Given the description of an element on the screen output the (x, y) to click on. 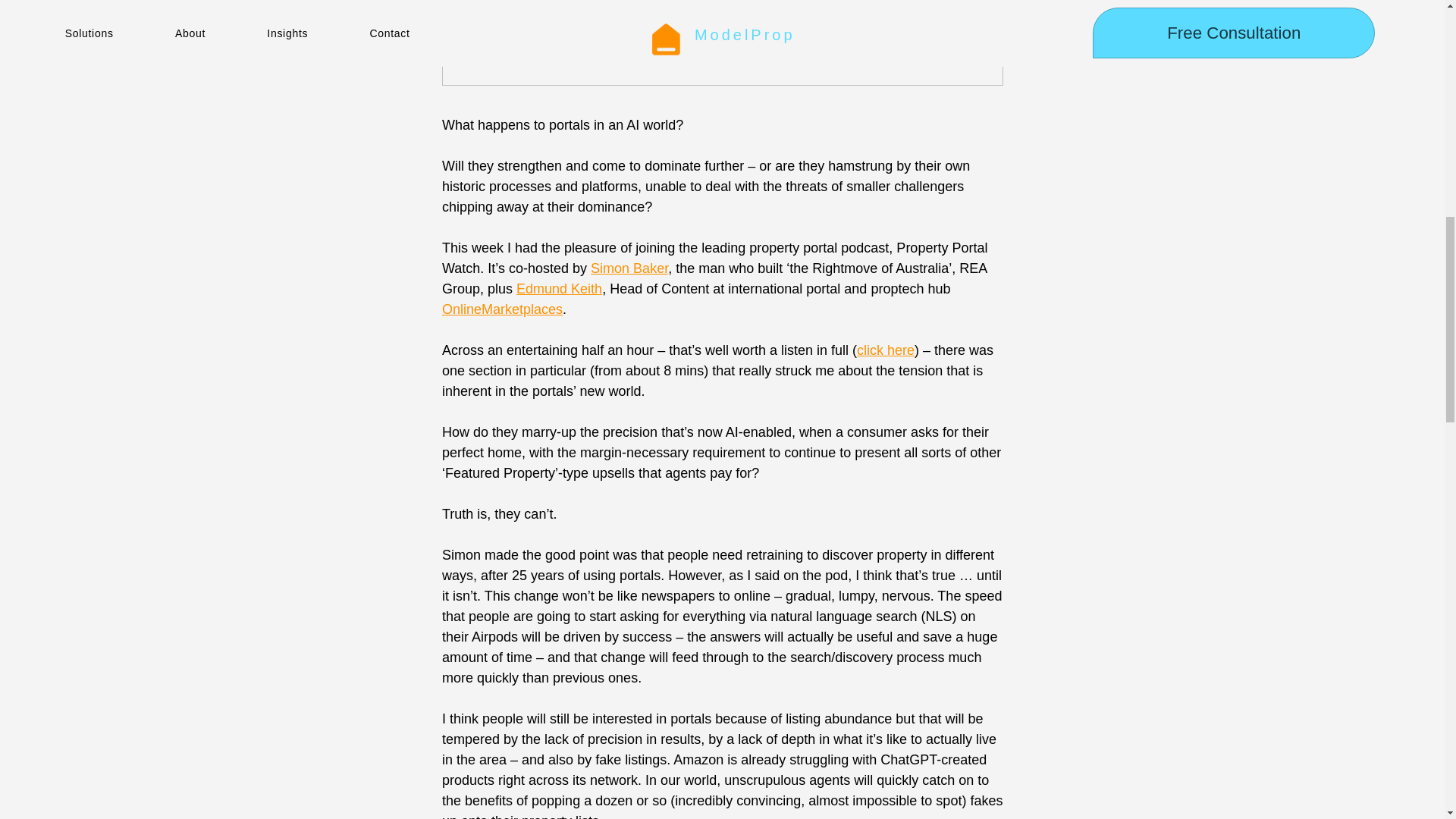
OnlineMarketplaces (501, 309)
click here (885, 350)
Simon Baker (629, 268)
Edmund Keith (559, 288)
